Given the description of an element on the screen output the (x, y) to click on. 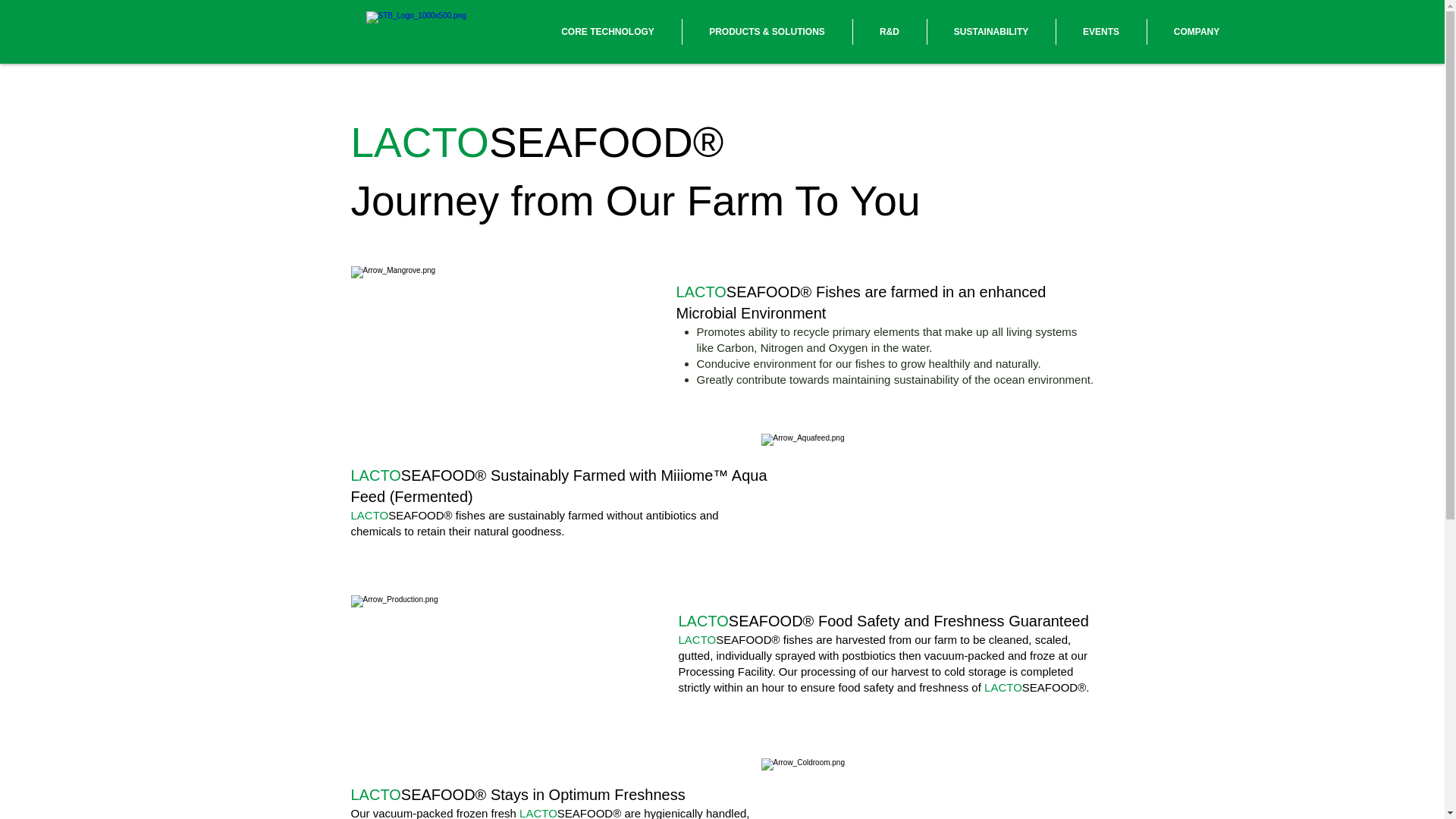
EVENTS (1101, 31)
COMPANY (1196, 31)
SUSTAINABILITY (990, 31)
